Given the description of an element on the screen output the (x, y) to click on. 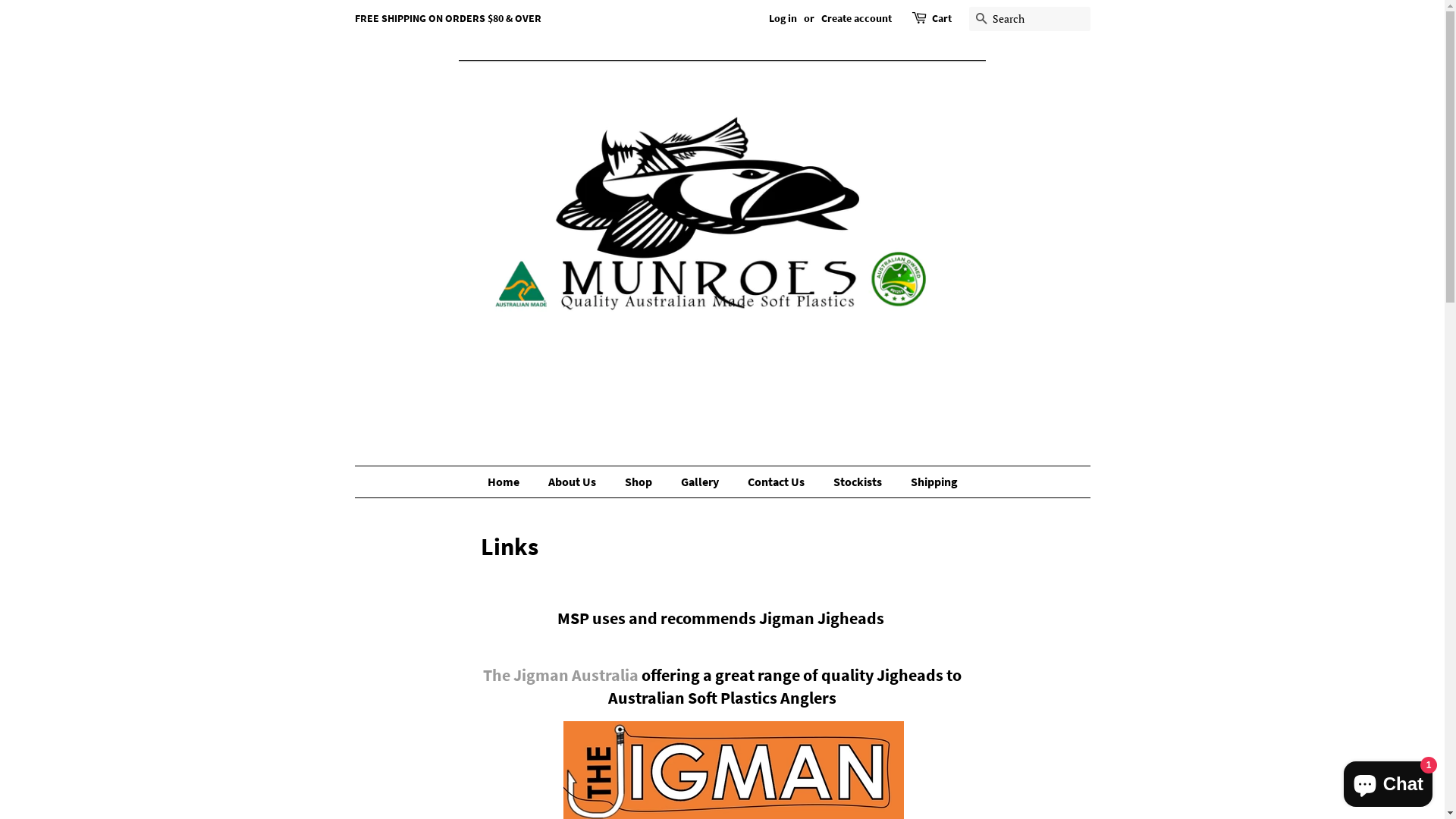
Search Element type: text (981, 18)
Shopify online store chat Element type: hover (1388, 780)
Shop Element type: text (639, 481)
Log in Element type: text (782, 18)
Shipping Element type: text (928, 481)
Create account Element type: text (855, 18)
Contact Us Element type: text (777, 481)
About Us Element type: text (573, 481)
Home Element type: text (509, 481)
Cart Element type: text (940, 18)
The Jigman Australia Element type: text (560, 674)
Stockists Element type: text (859, 481)
Gallery Element type: text (700, 481)
